Given the description of an element on the screen output the (x, y) to click on. 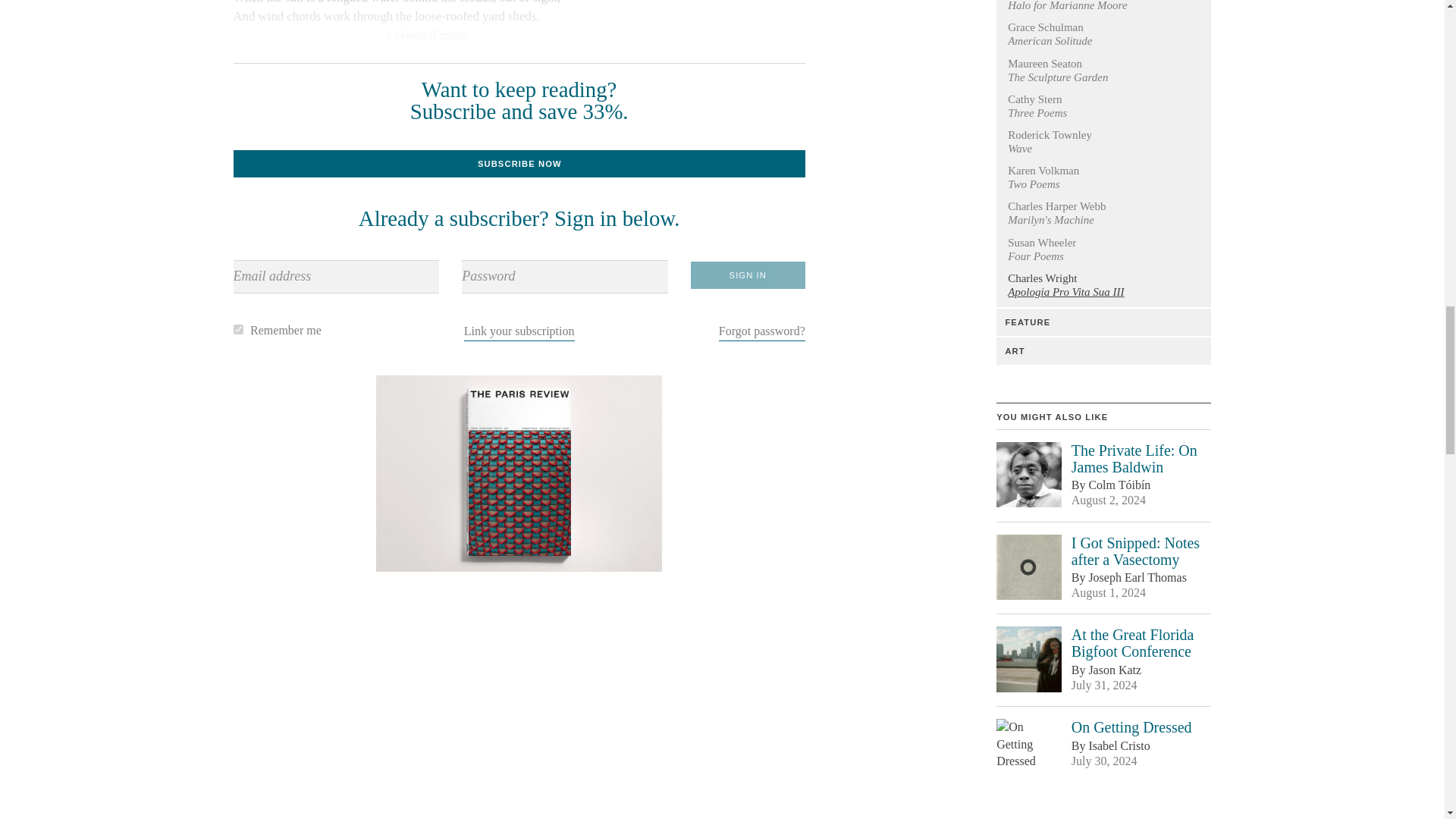
remember (237, 329)
Sign In (747, 275)
